Given the description of an element on the screen output the (x, y) to click on. 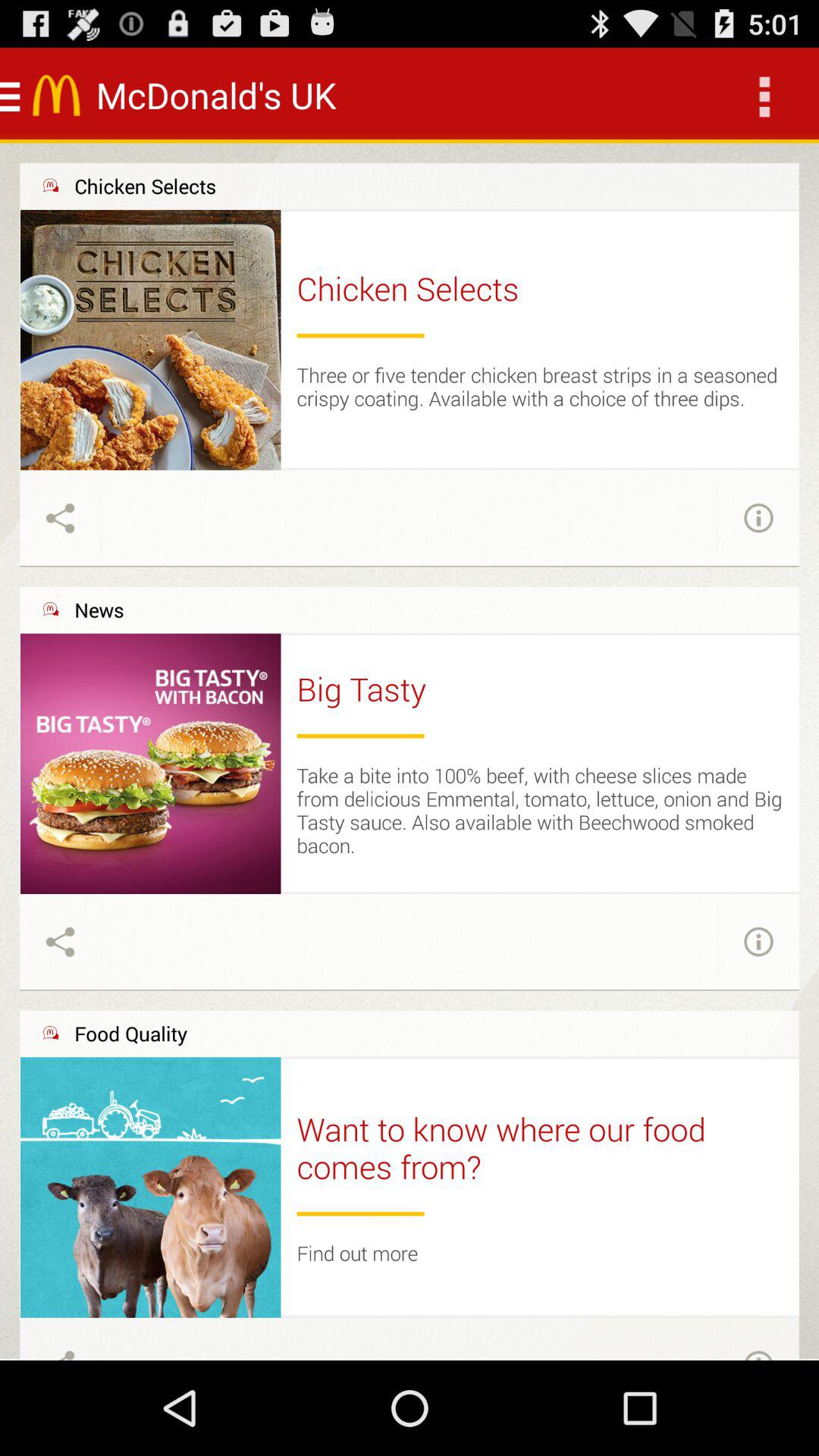
tap the item above the want to know item (539, 1057)
